Given the description of an element on the screen output the (x, y) to click on. 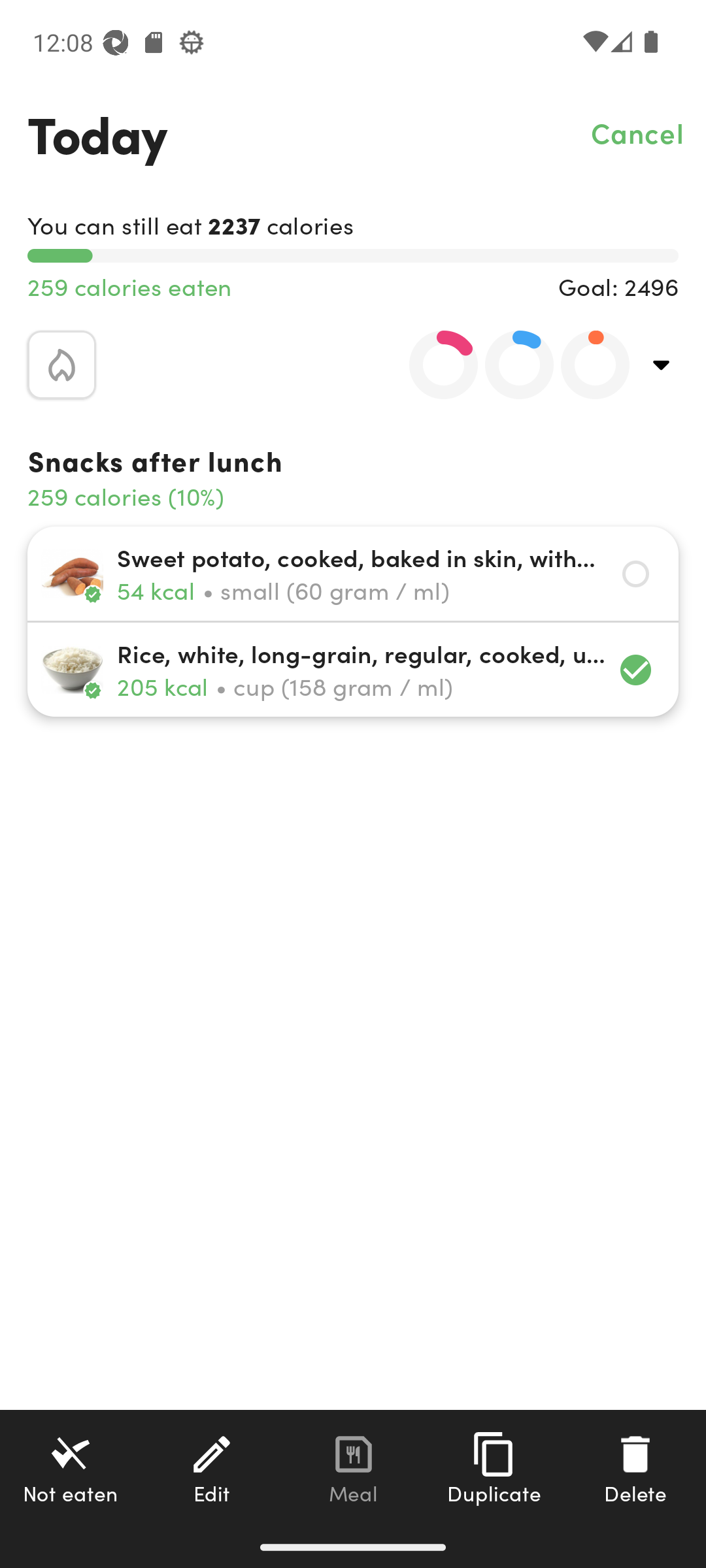
Cancel (637, 132)
calorie_icon (62, 365)
0.15 0.09 0.01 (508, 365)
top_right_action (661, 365)
Not eaten (70, 1468)
Edit (211, 1468)
Meal (352, 1468)
Duplicate (493, 1468)
Delete (635, 1468)
